Given the description of an element on the screen output the (x, y) to click on. 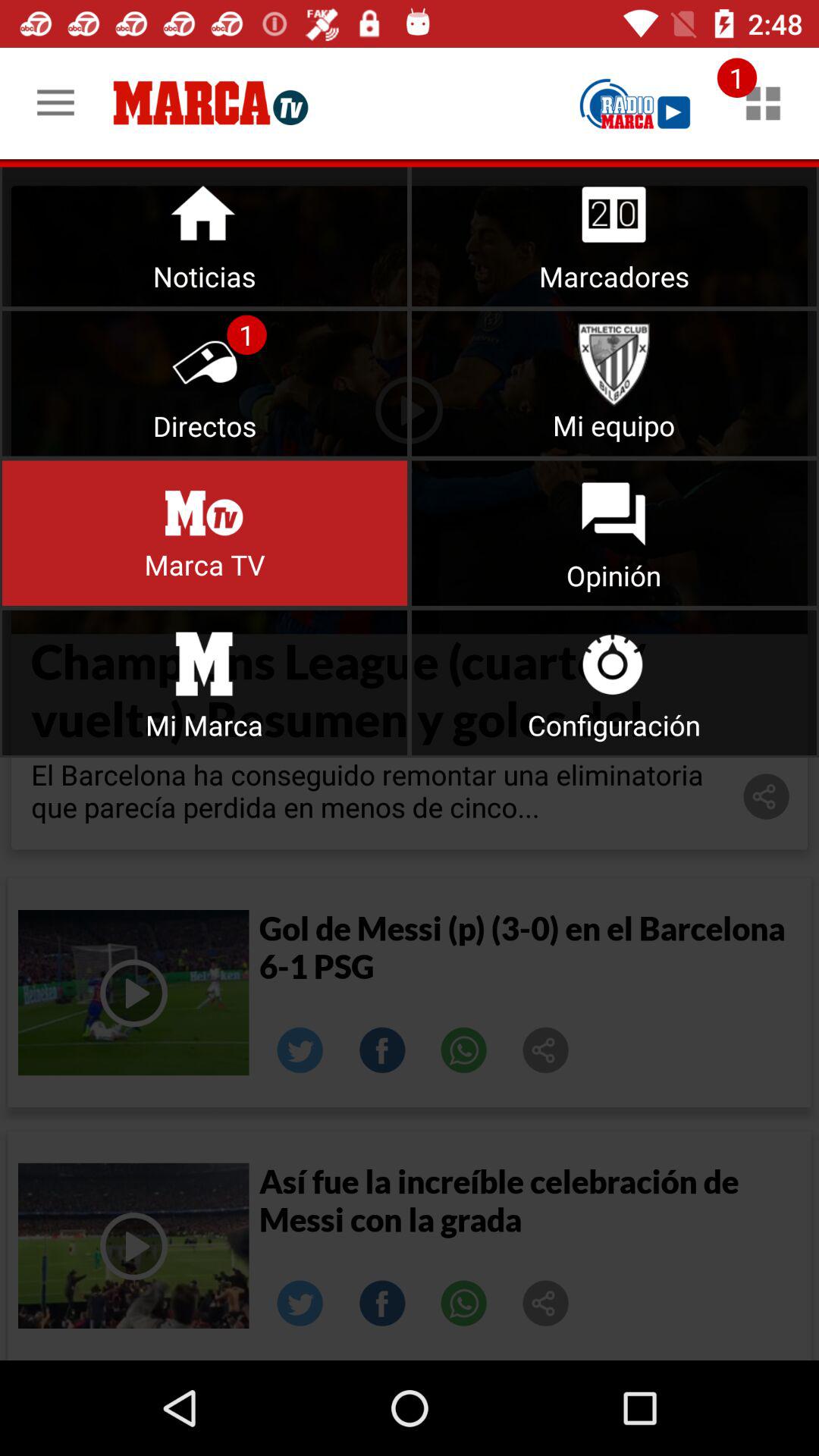
select image (545, 1050)
